Given the description of an element on the screen output the (x, y) to click on. 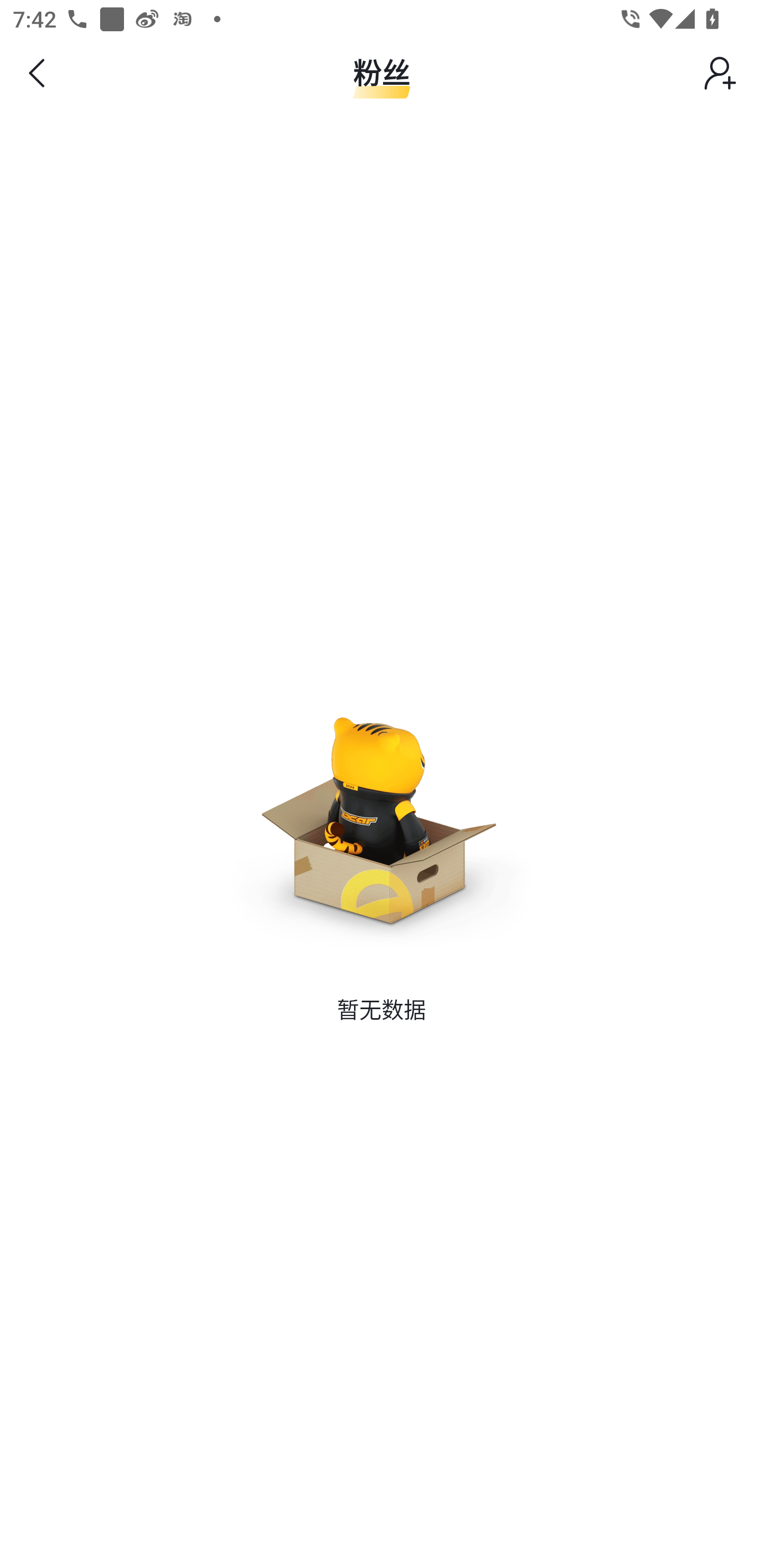
暂无数据 (381, 818)
